Given the description of an element on the screen output the (x, y) to click on. 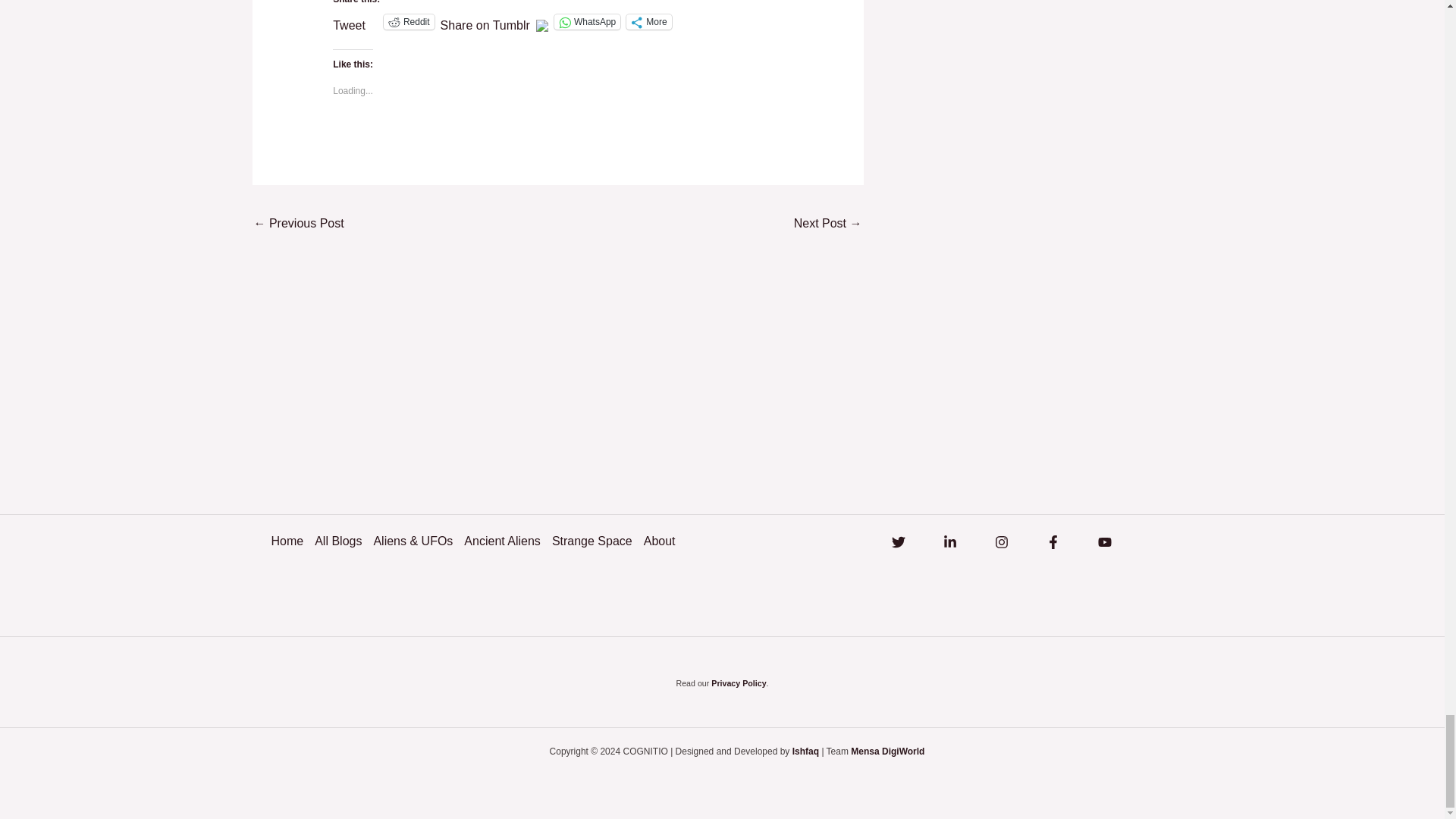
WhatsApp (587, 21)
Reddit (408, 21)
Click to share on WhatsApp (587, 21)
Click to share on Reddit (408, 21)
Share on Tumblr (485, 20)
Share on Tumblr (485, 20)
Tweet (349, 20)
More (648, 21)
